Given the description of an element on the screen output the (x, y) to click on. 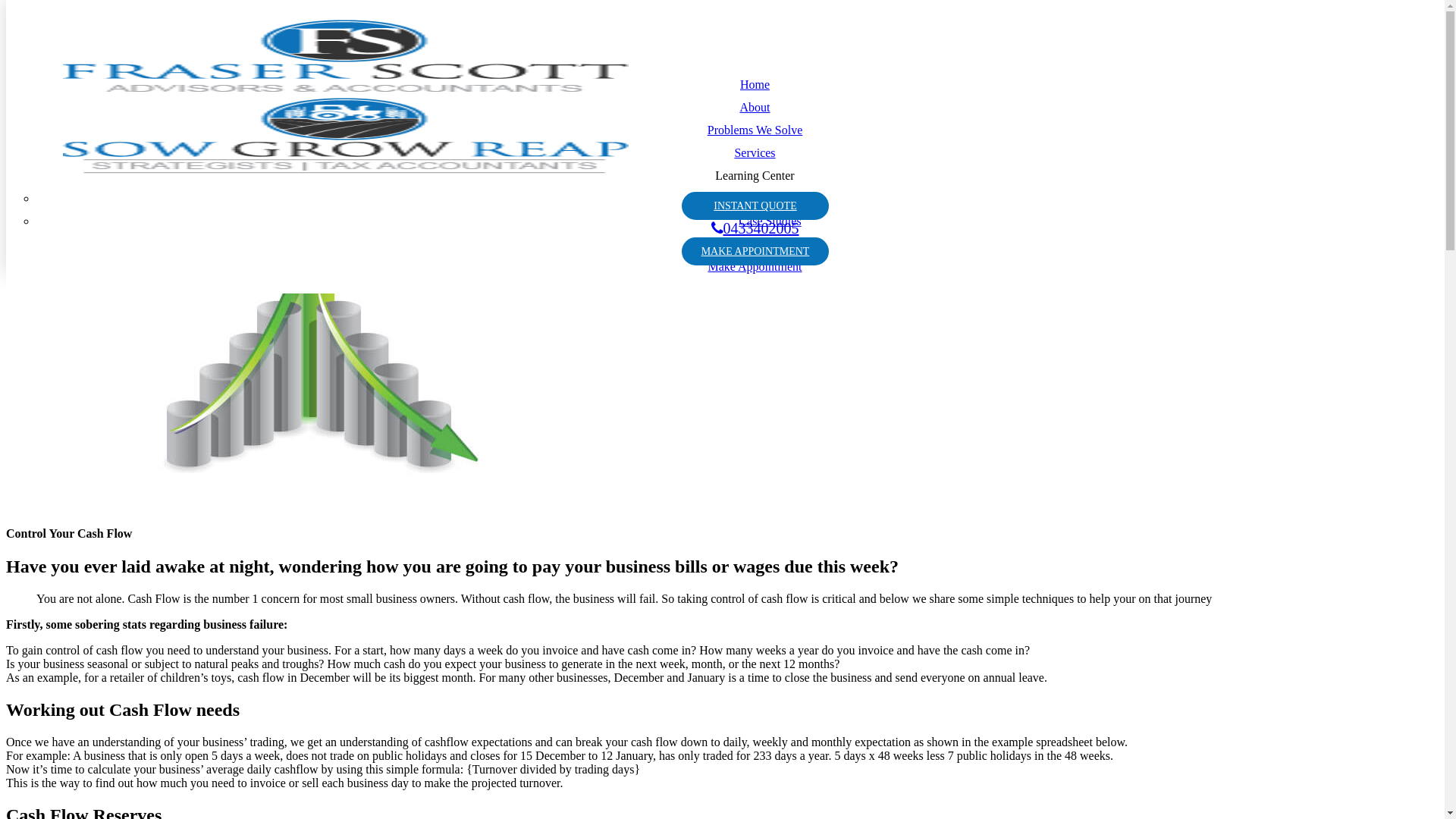
0433402005 Element type: text (755, 227)
INSTANT QUOTE Element type: text (754, 205)
MAKE APPOINTMENT Element type: text (754, 251)
